Given the description of an element on the screen output the (x, y) to click on. 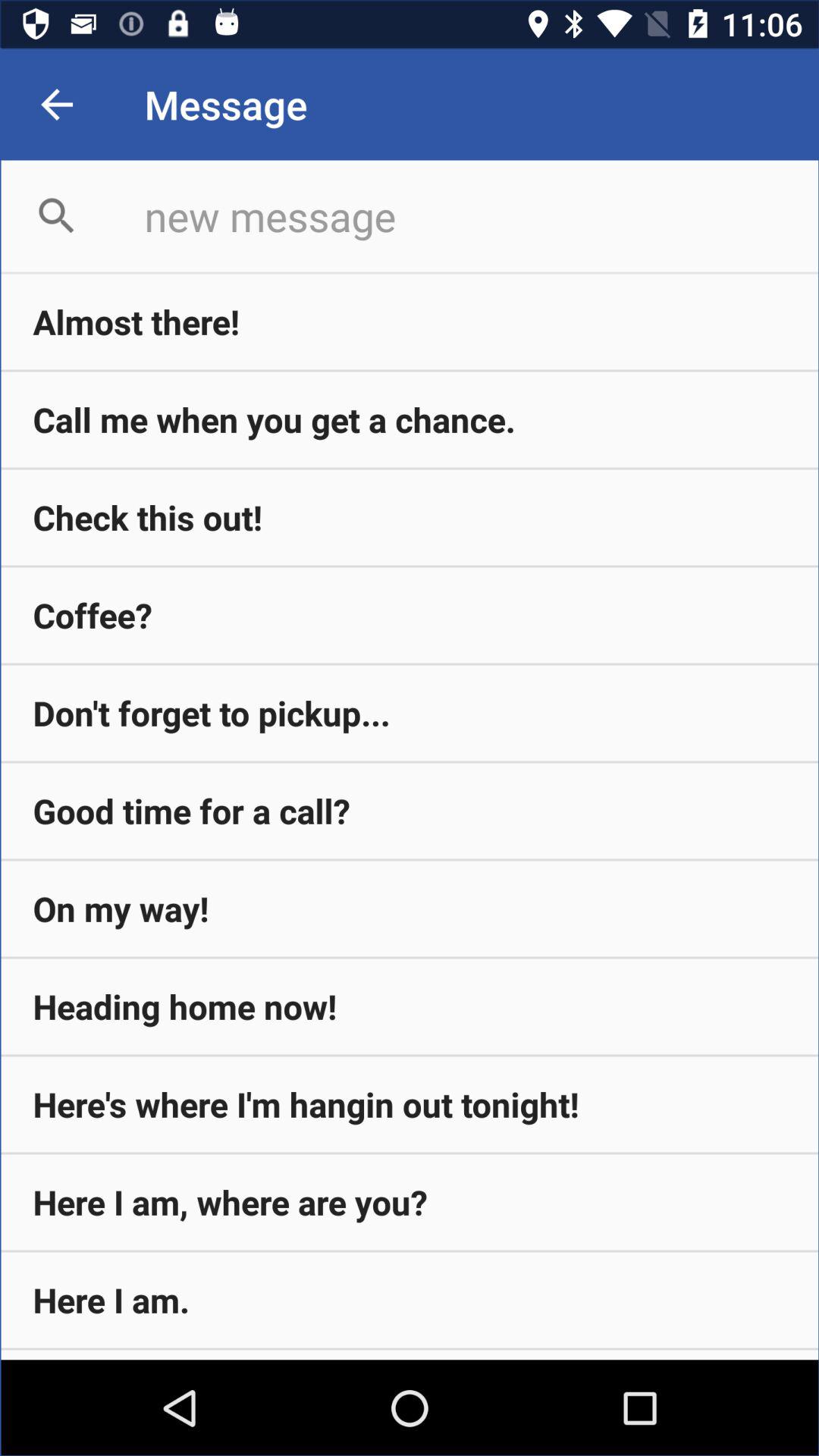
turn off check this out! (409, 517)
